Given the description of an element on the screen output the (x, y) to click on. 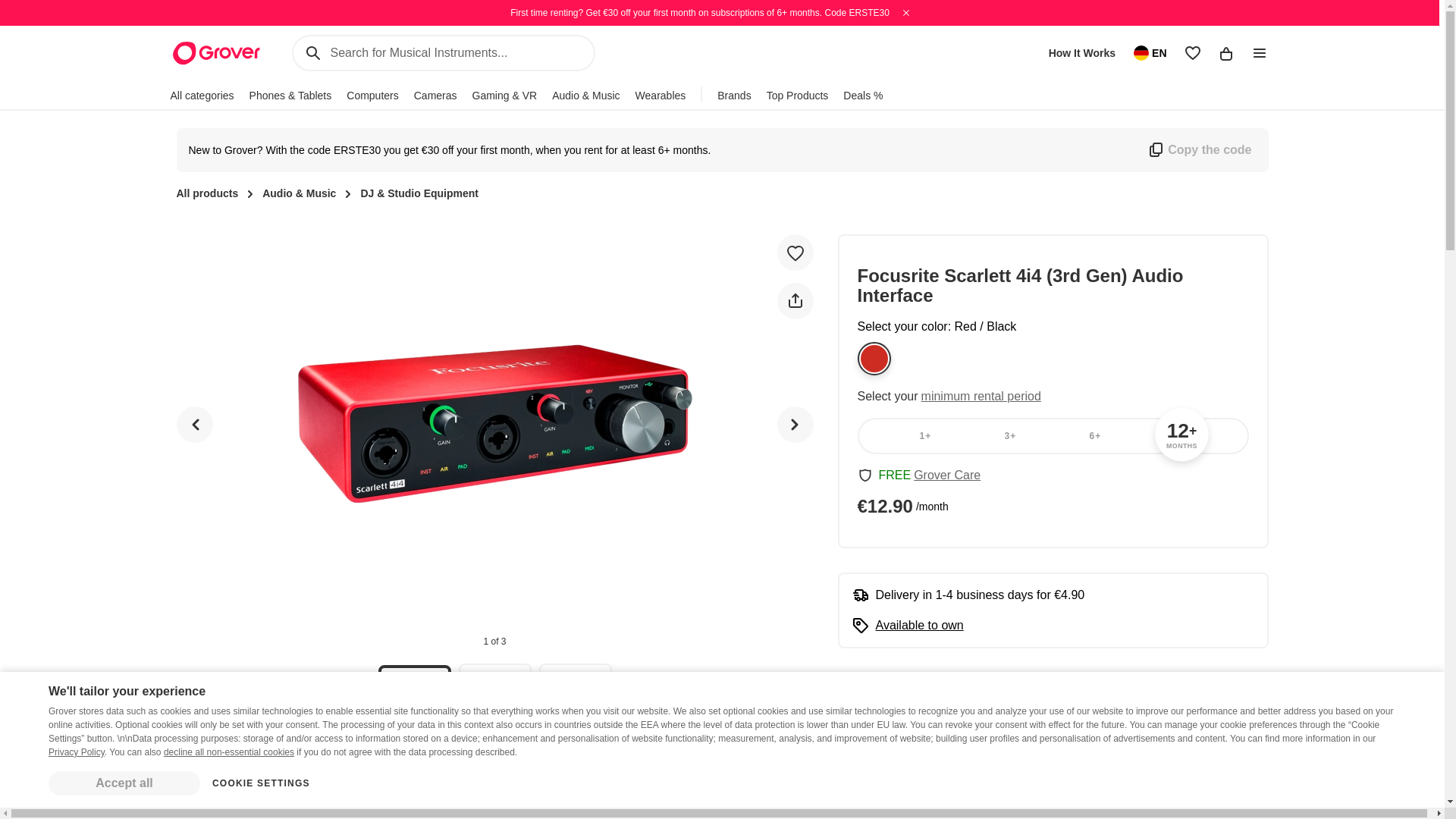
All products (207, 193)
Top Products (797, 95)
How It Works (1081, 53)
Copy the code (1198, 149)
